Given the description of an element on the screen output the (x, y) to click on. 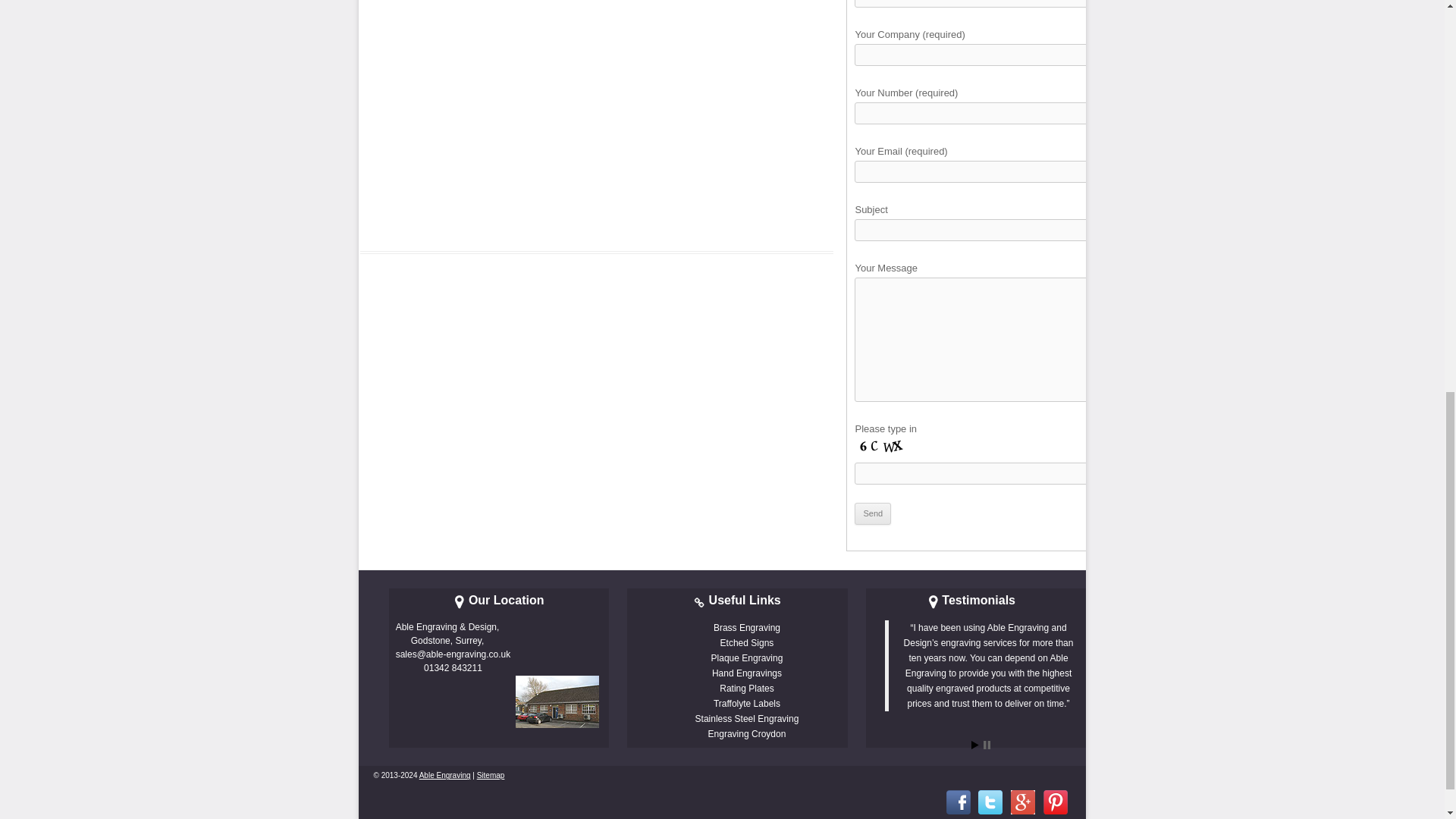
Engraved Brass (746, 627)
Hand Engraving (746, 673)
Rating Plates (746, 688)
Etched Signs (747, 643)
Send (872, 513)
engravers (444, 775)
Engraving Croydon (746, 733)
Safety Signs (746, 703)
Engraved Plaques (747, 657)
Engraved Stainless Steel (747, 718)
